Given the description of an element on the screen output the (x, y) to click on. 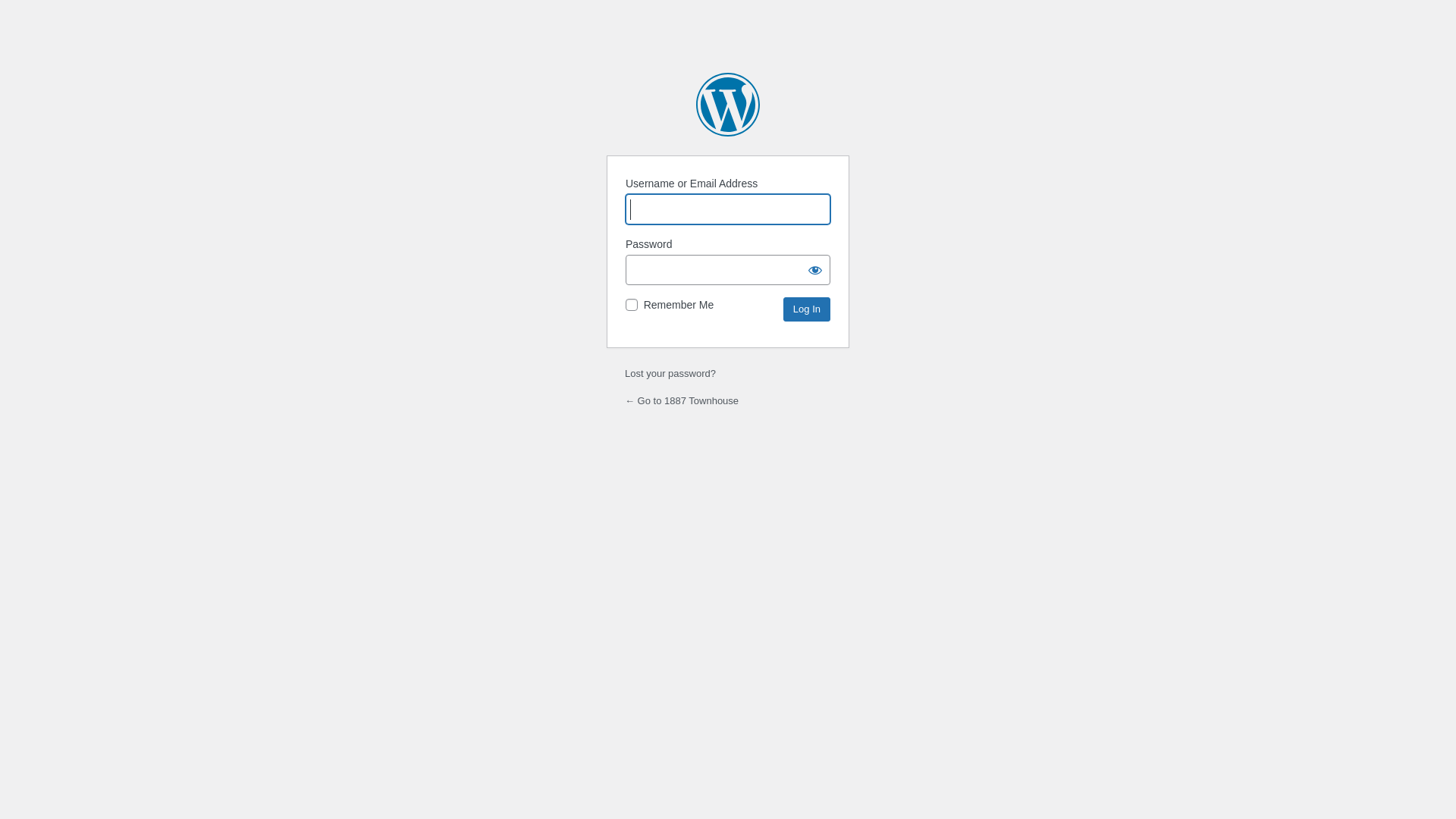
Powered by WordPress Element type: text (727, 104)
Lost your password? Element type: text (669, 373)
Log In Element type: text (806, 309)
